Given the description of an element on the screen output the (x, y) to click on. 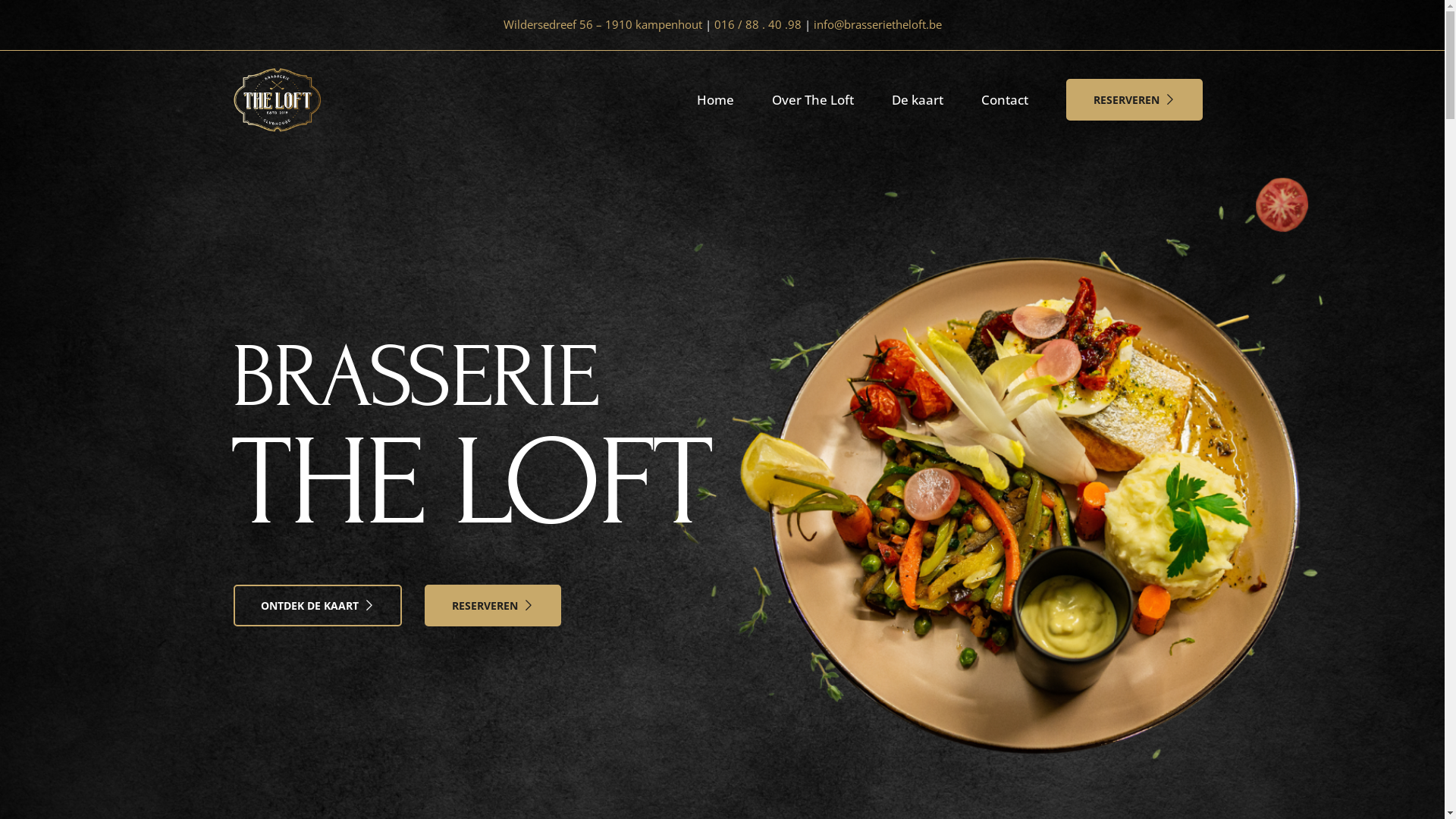
Home Element type: text (715, 99)
RESERVEREN Element type: text (1134, 99)
info@brasserietheloft.be Element type: text (876, 23)
Over The Loft Element type: text (812, 99)
De kaart Element type: text (917, 99)
016 / 88 . 40 .98 Element type: text (757, 23)
ONTDEK DE KAART Element type: text (317, 605)
RESERVEREN Element type: text (492, 605)
Logo Element type: hover (276, 99)
Contact Element type: text (1004, 99)
